Given the description of an element on the screen output the (x, y) to click on. 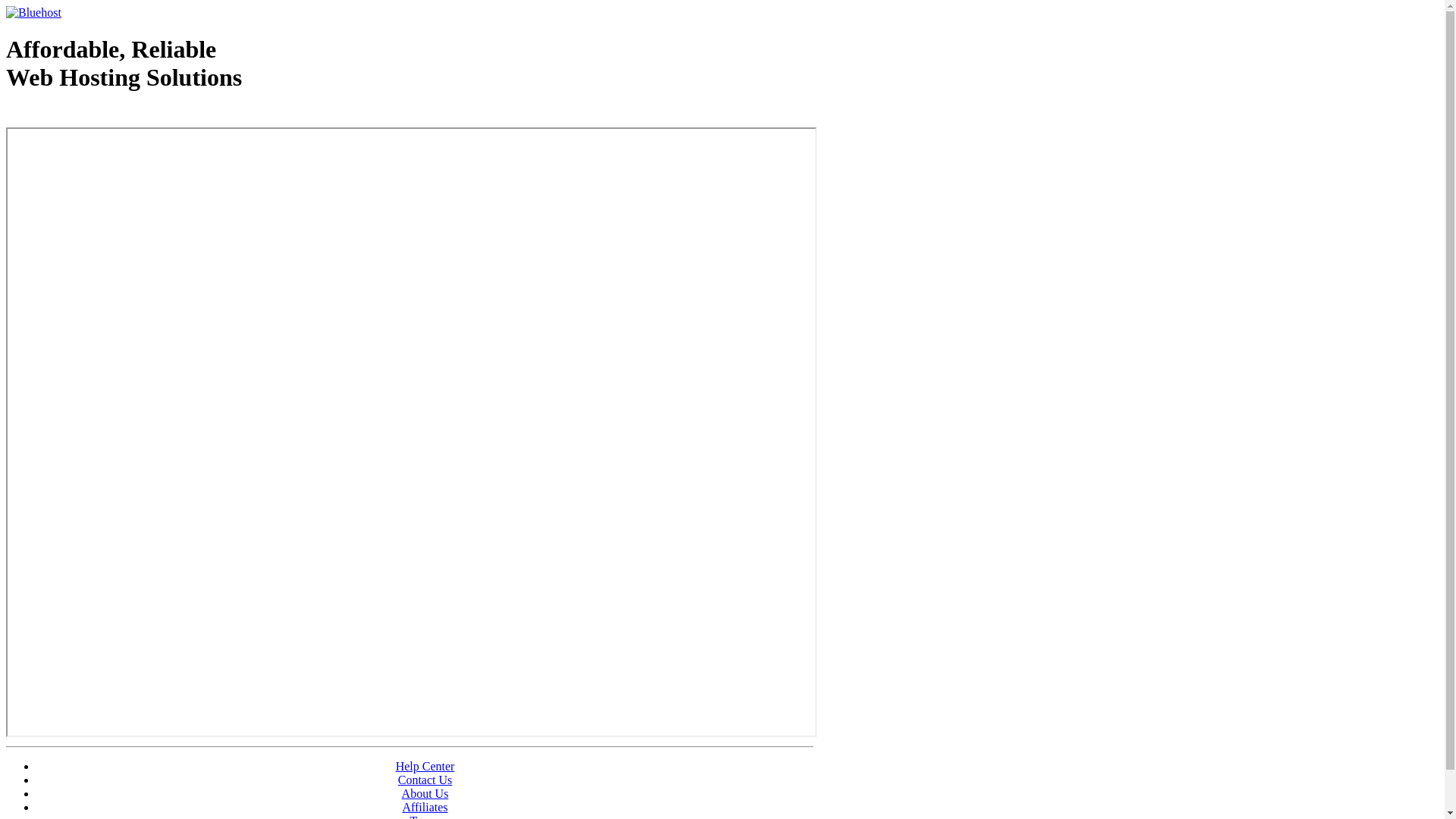
About Us Element type: text (424, 793)
Contact Us Element type: text (425, 779)
Affiliates Element type: text (424, 806)
Help Center Element type: text (425, 765)
Web Hosting - courtesy of www.bluehost.com Element type: text (94, 115)
